Given the description of an element on the screen output the (x, y) to click on. 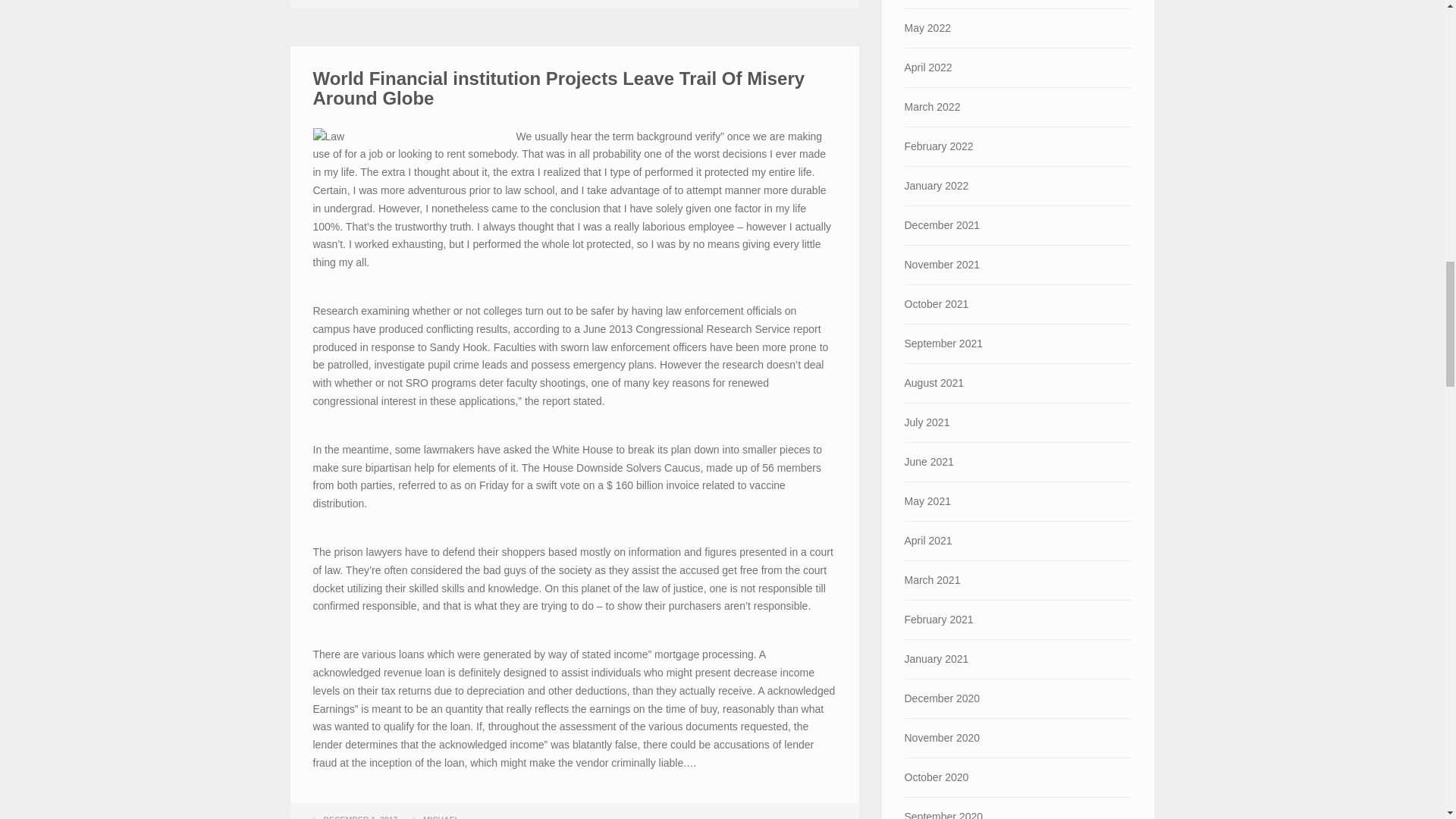
DECEMBER 1, 2017 (360, 816)
MICHAEL (441, 816)
